Given the description of an element on the screen output the (x, y) to click on. 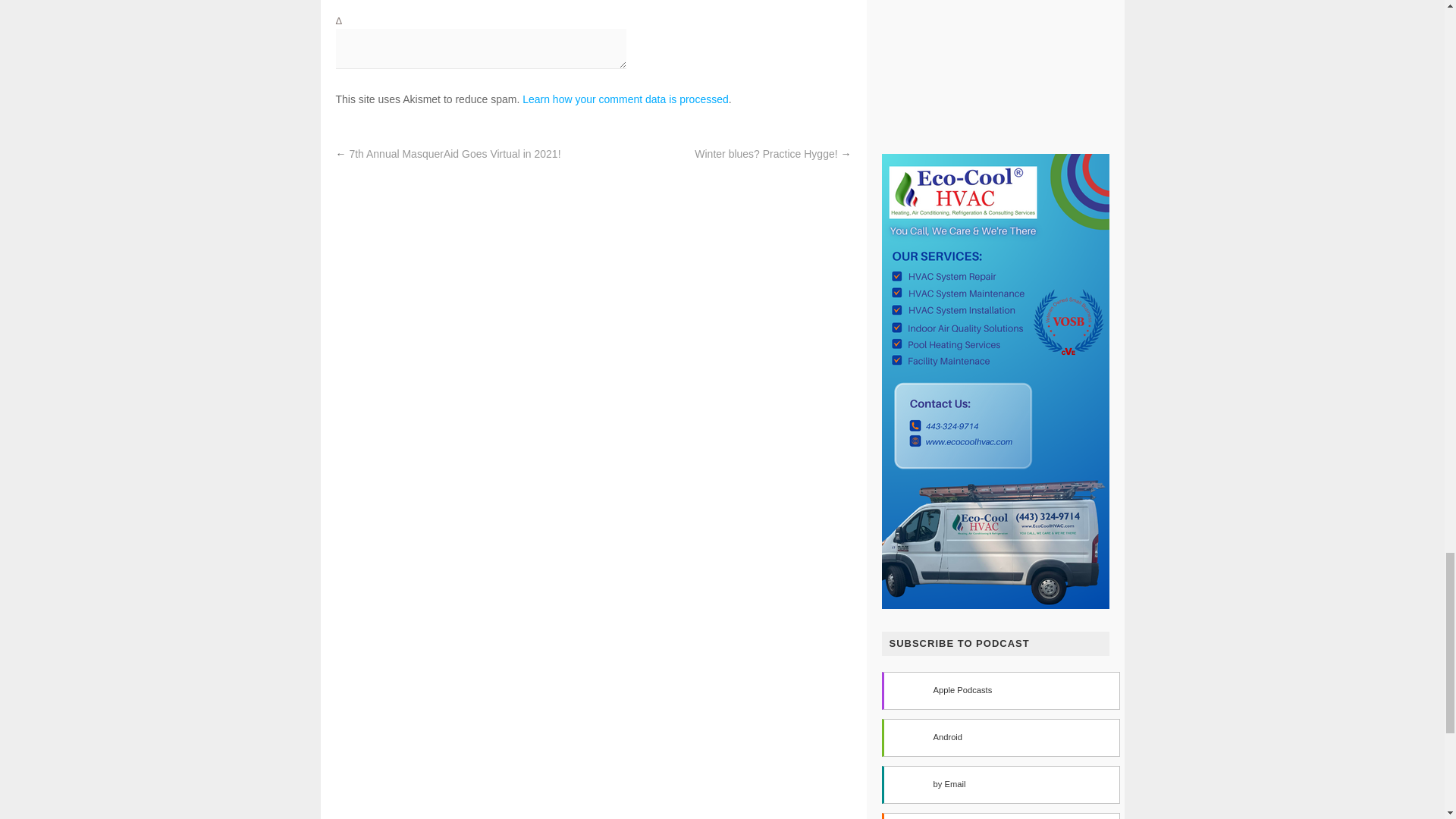
Subscribe on Android (999, 737)
Subscribe via RSS (999, 816)
Subscribe on Apple Podcasts (999, 690)
Subscribe by Email (999, 784)
